Given the description of an element on the screen output the (x, y) to click on. 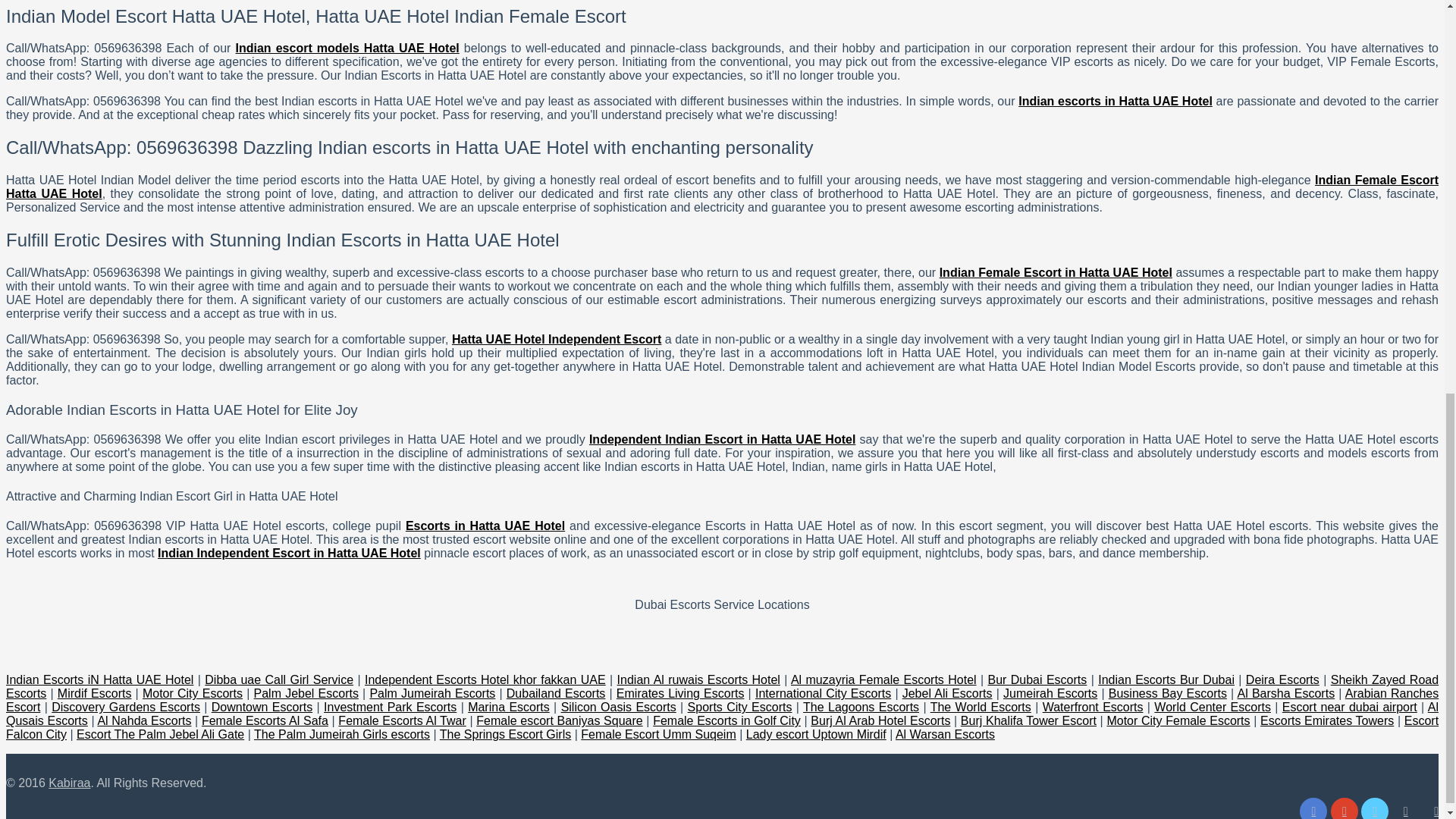
Bur Dubai Escorts (1036, 679)
Al Barsha Escorts (1286, 693)
Independent Escorts Hotel khor fakkan UAE (485, 679)
Motor City Escorts (192, 693)
Emirates Living Escorts (679, 693)
Palm Jebel Escorts (305, 693)
Indian Independent Escort in Hatta UAE Hotel (288, 553)
Hatta UAE Hotel Independent Escort (556, 338)
Indian escort models Hatta UAE Hotel (347, 47)
Al muzayria Female Escorts Hotel (883, 679)
Jumeirah Escorts (1050, 693)
Deira Escorts (1282, 679)
Indian escorts in Hatta UAE Hotel (1114, 101)
Indian Al ruwais Escorts Hotel (698, 679)
Dibba uae Call Girl Service (279, 679)
